Given the description of an element on the screen output the (x, y) to click on. 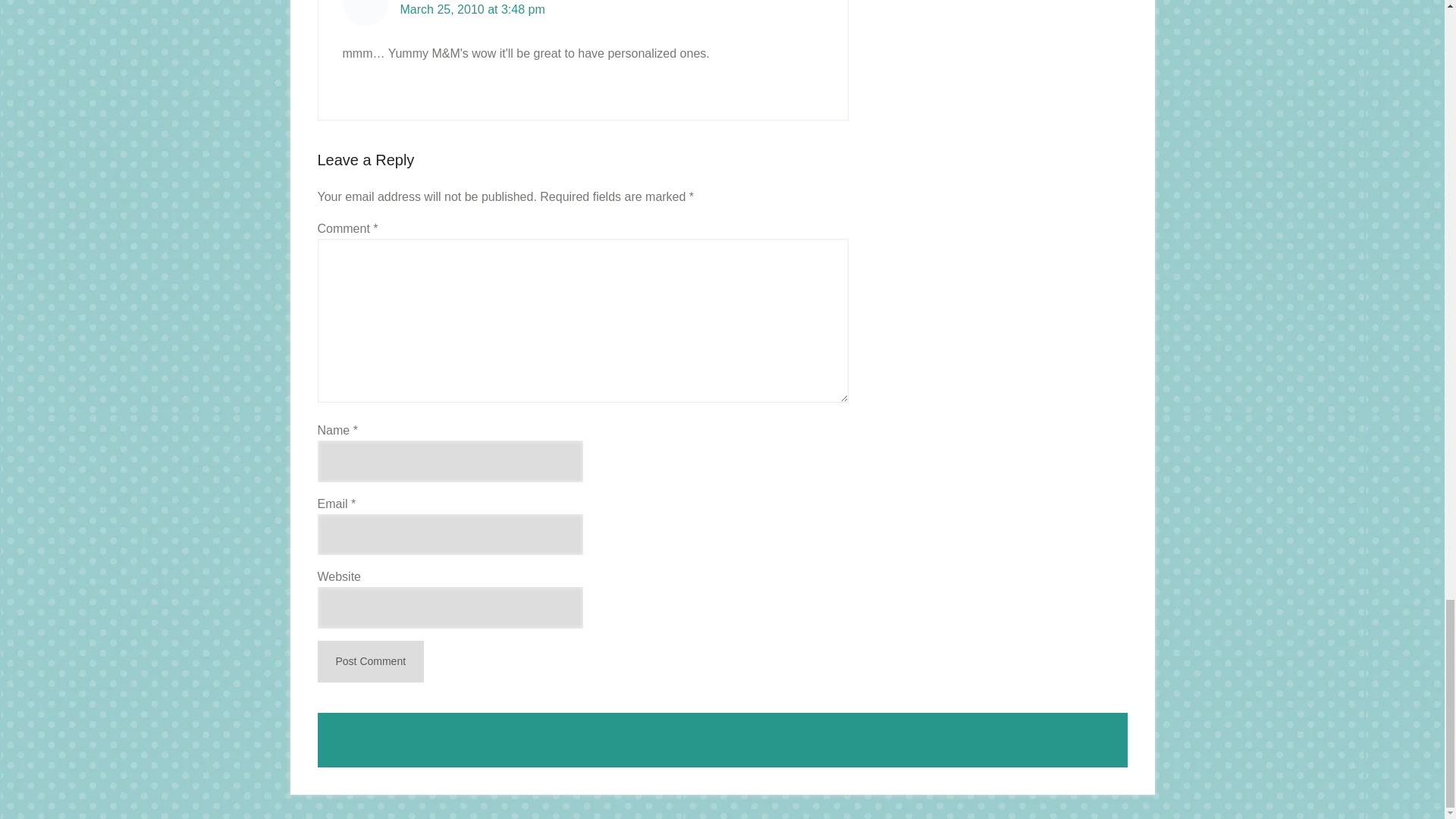
March 25, 2010 at 3:48 pm (472, 9)
Post Comment (370, 661)
Post Comment (370, 661)
